Given the description of an element on the screen output the (x, y) to click on. 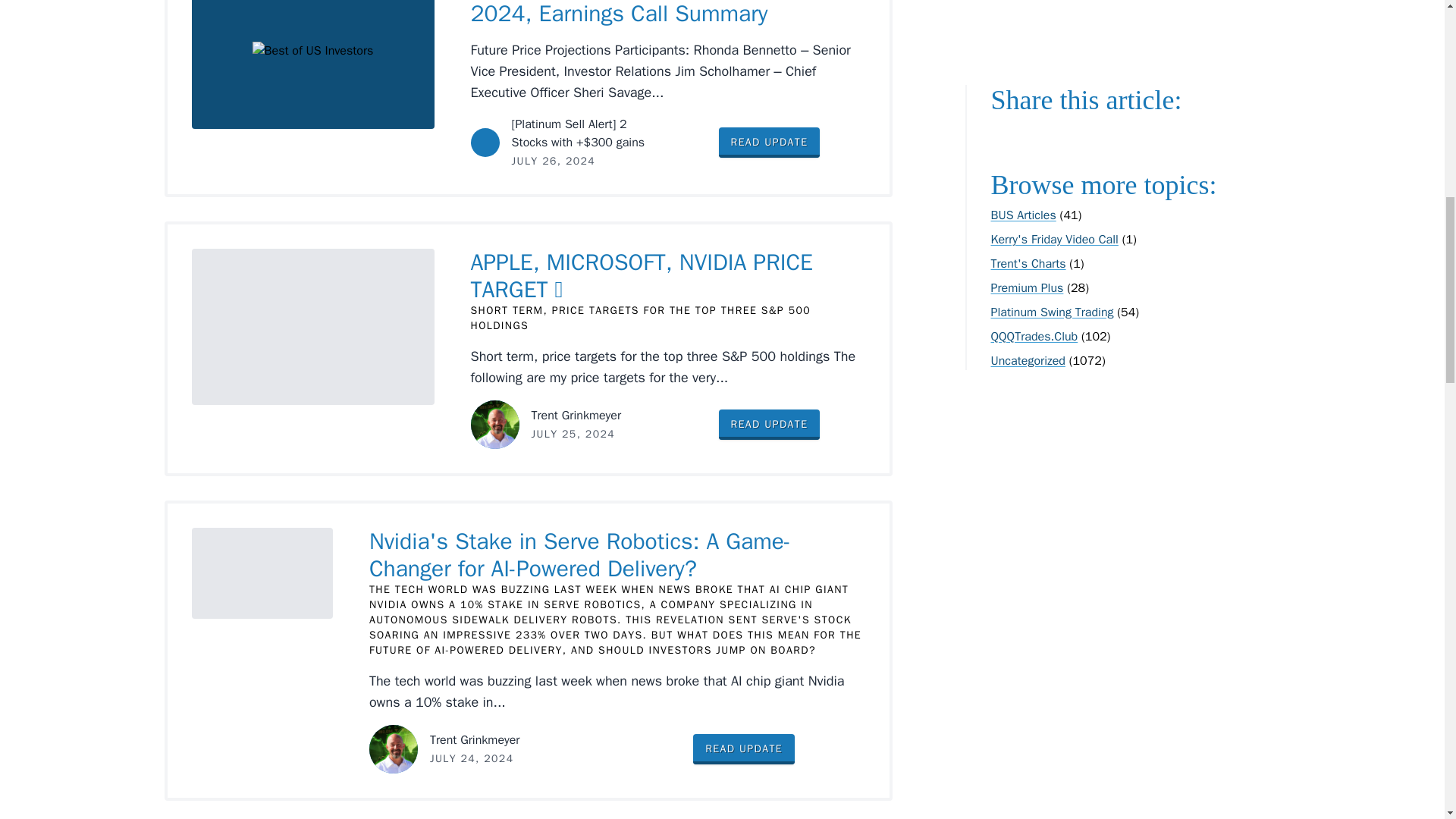
READ UPDATE (743, 748)
READ UPDATE (770, 424)
READ UPDATE (770, 142)
